Given the description of an element on the screen output the (x, y) to click on. 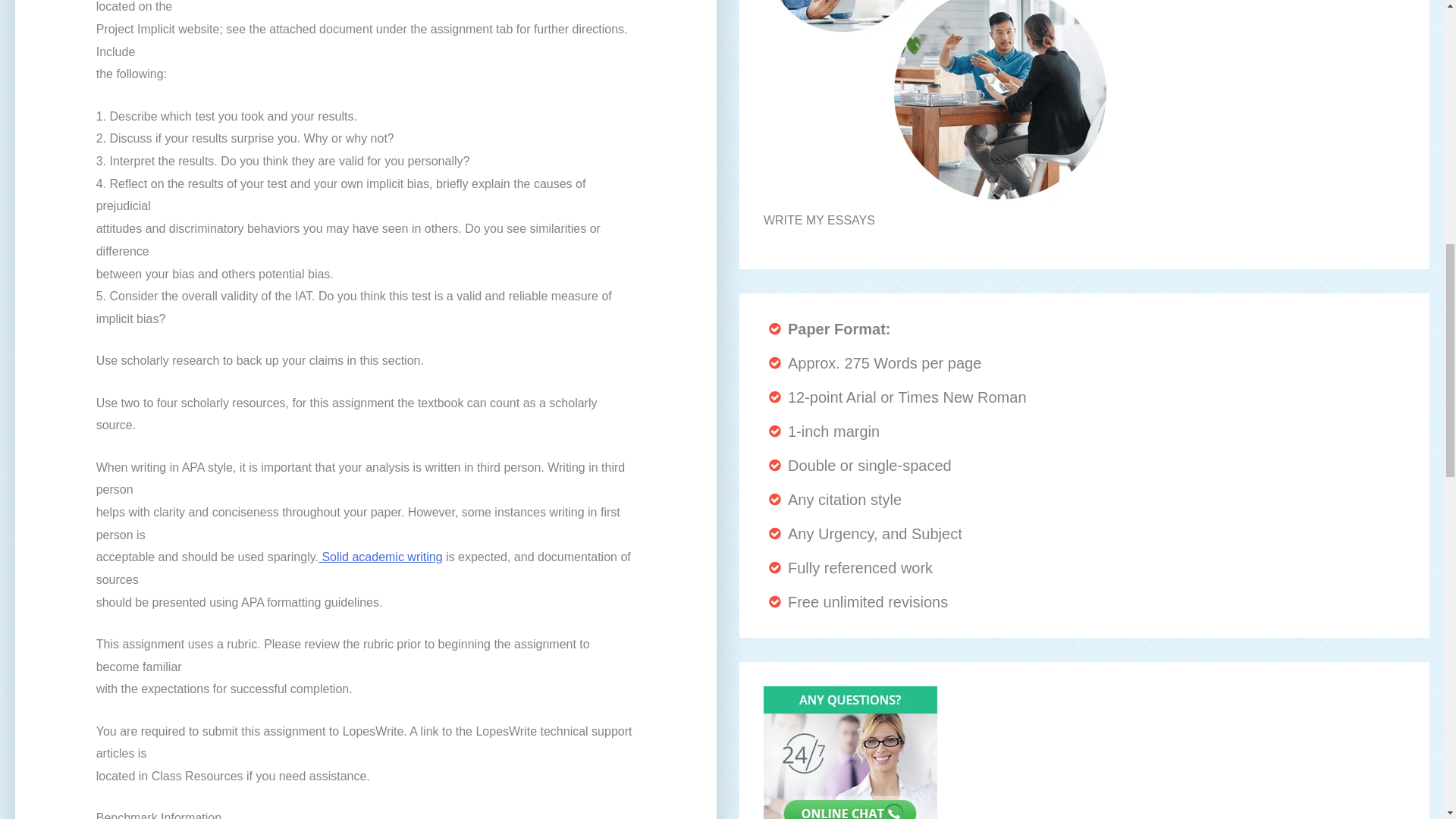
Solid academic writing (380, 556)
